Given the description of an element on the screen output the (x, y) to click on. 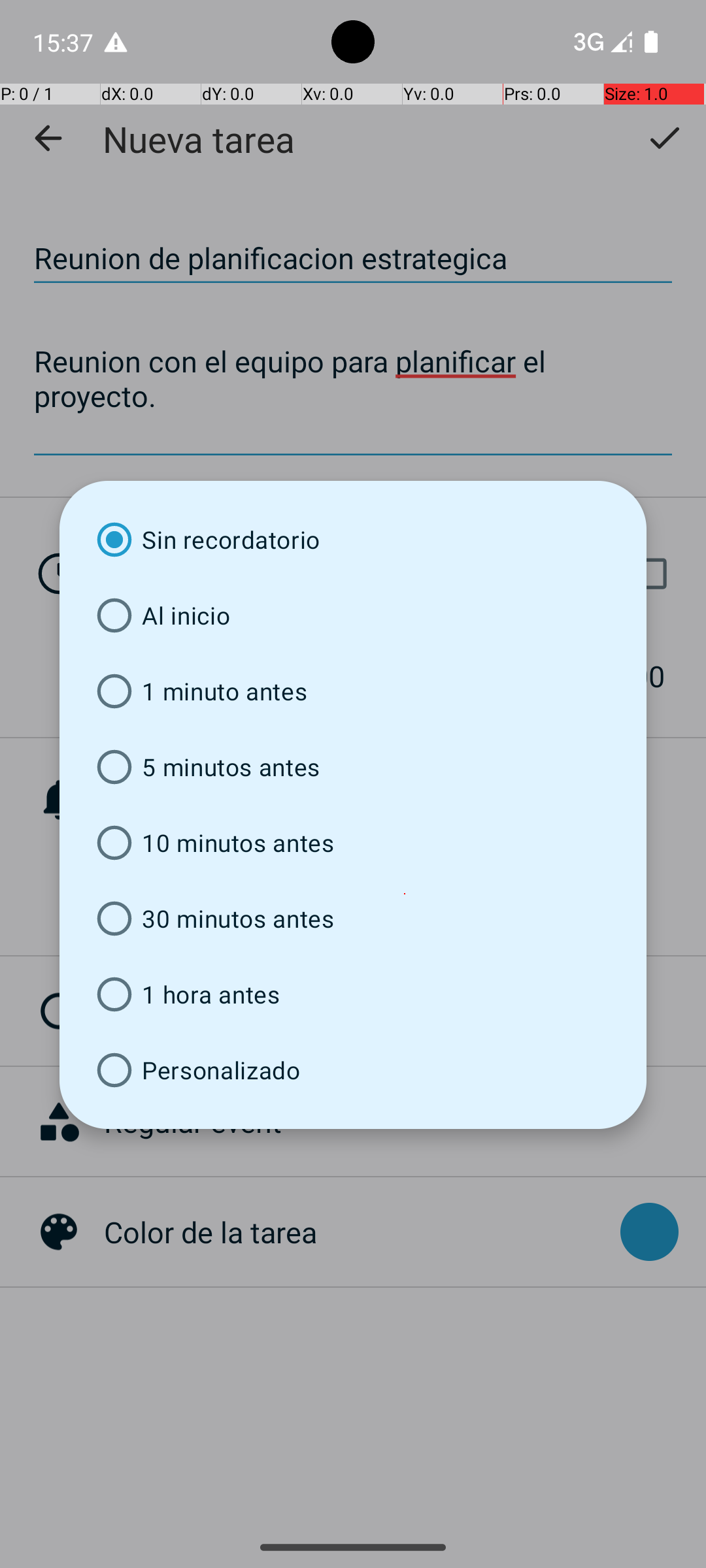
Sin recordatorio Element type: android.widget.RadioButton (352, 539)
Al inicio Element type: android.widget.RadioButton (352, 615)
1 minuto antes Element type: android.widget.RadioButton (352, 691)
5 minutos antes Element type: android.widget.RadioButton (352, 766)
10 minutos antes Element type: android.widget.RadioButton (352, 842)
30 minutos antes Element type: android.widget.RadioButton (352, 918)
1 hora antes Element type: android.widget.RadioButton (352, 994)
Personalizado Element type: android.widget.RadioButton (352, 1070)
15:37 Element type: android.widget.TextView (64, 41)
